Given the description of an element on the screen output the (x, y) to click on. 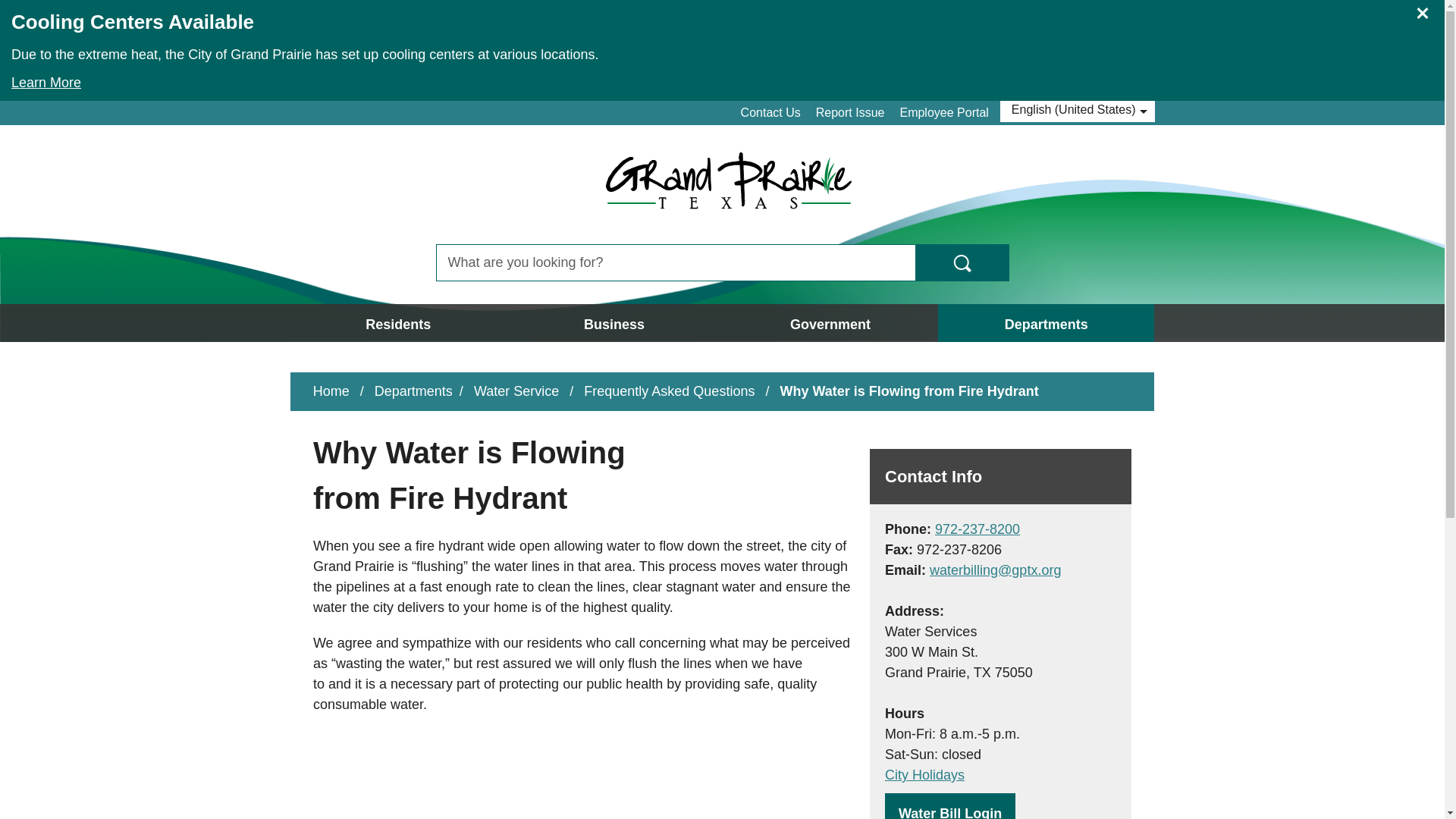
Search (962, 262)
City of Grand Prairie - Home - Logo (728, 184)
Search (962, 262)
Report Issue (850, 112)
Contact Us (770, 112)
Learn More (720, 79)
Search (962, 262)
Sub-menu (491, 322)
Residents (397, 322)
Employee Portal (943, 112)
